Given the description of an element on the screen output the (x, y) to click on. 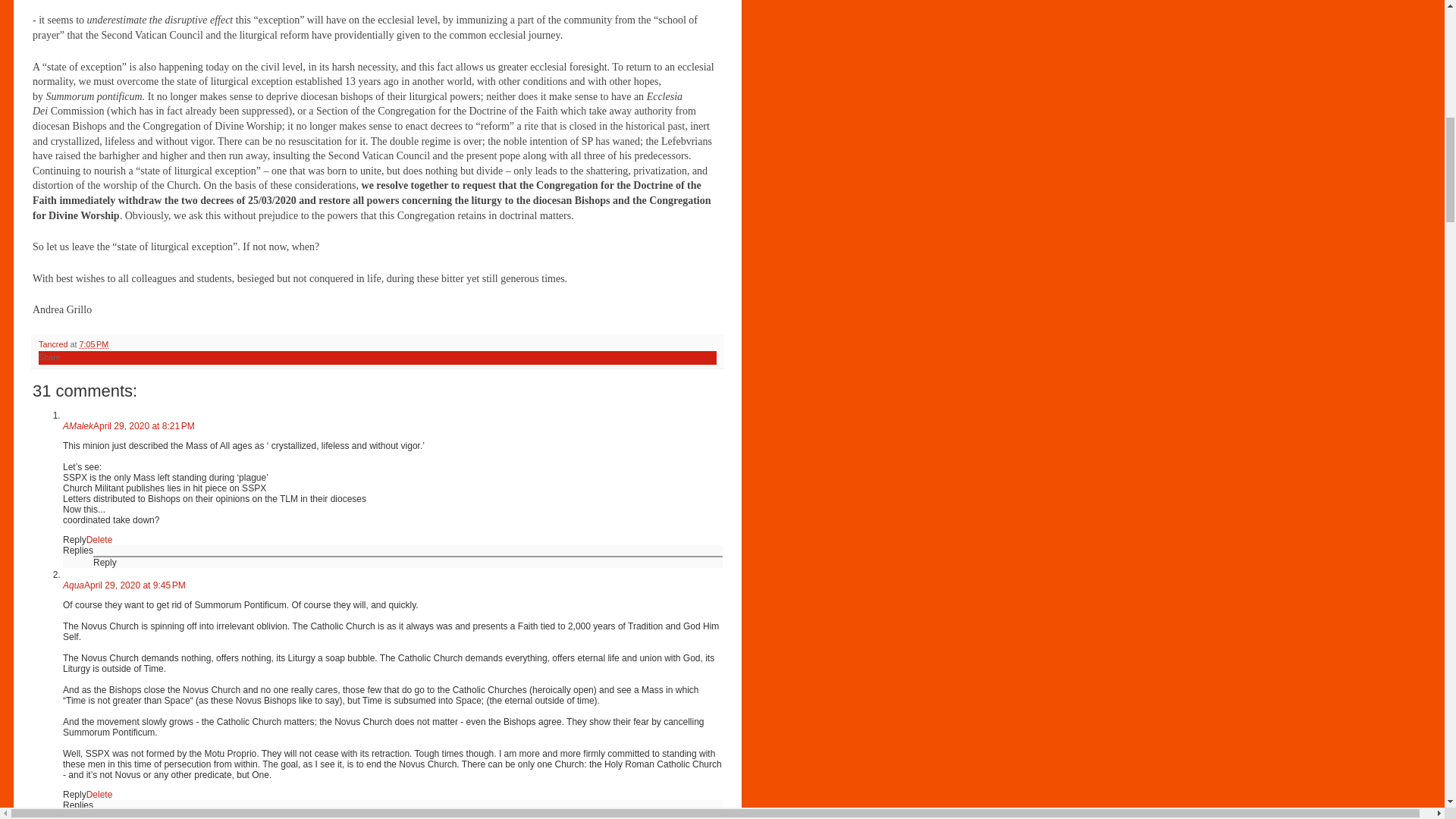
Share (50, 356)
Delete (99, 794)
Reply (104, 815)
Aqua (73, 584)
Tancred (54, 343)
Replies (77, 805)
permanent link (92, 343)
Reply (104, 562)
Reply (73, 794)
Replies (77, 550)
author profile (54, 343)
Reply (73, 539)
